Given the description of an element on the screen output the (x, y) to click on. 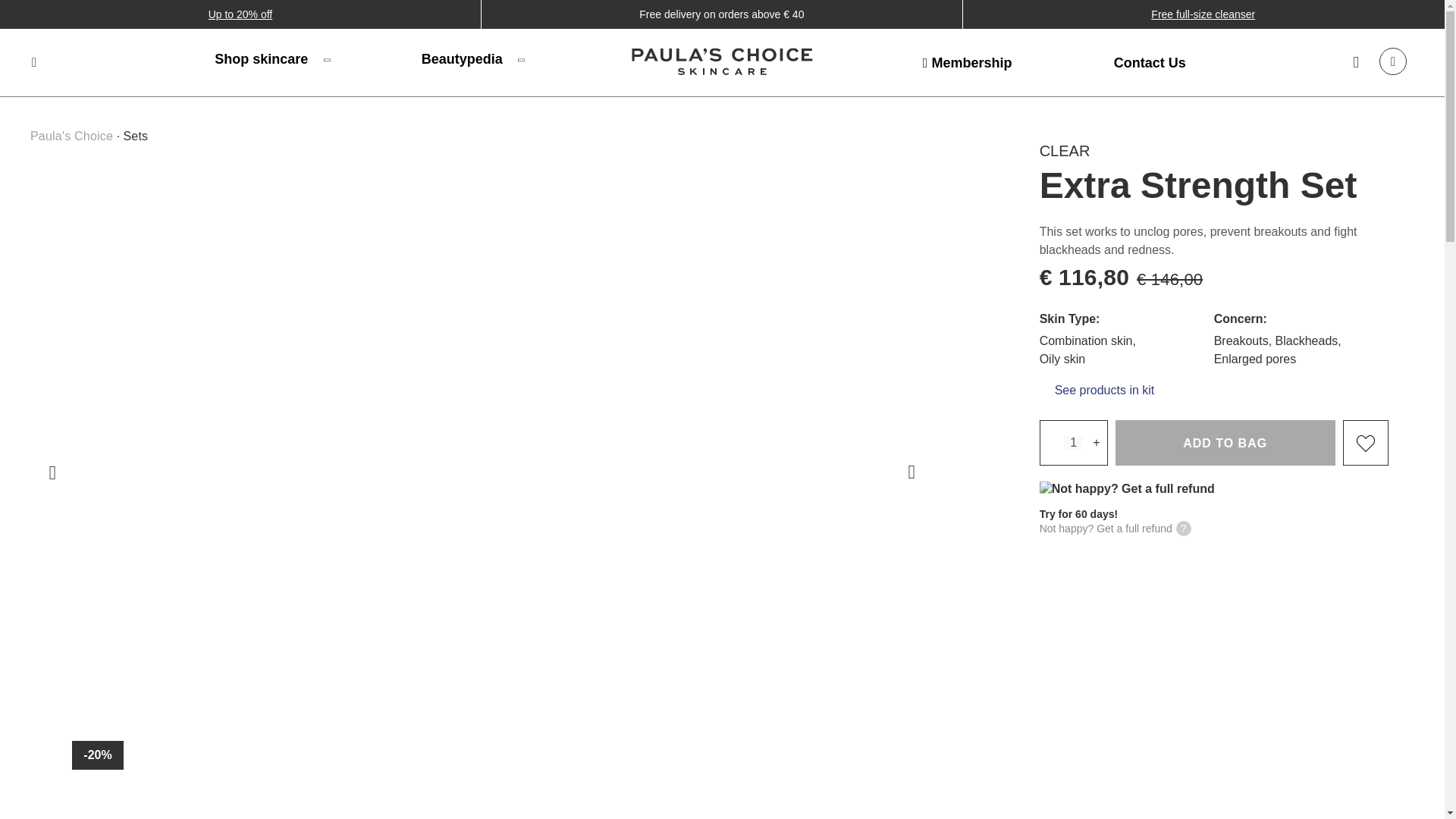
Go to Sets (135, 135)
Edit shopping bag (1392, 61)
Standard Price (1171, 279)
Search (33, 62)
Sale Price (1084, 276)
Shop skincare (272, 58)
1 (1073, 442)
Back to Homepage (721, 64)
Become a member (967, 62)
